Given the description of an element on the screen output the (x, y) to click on. 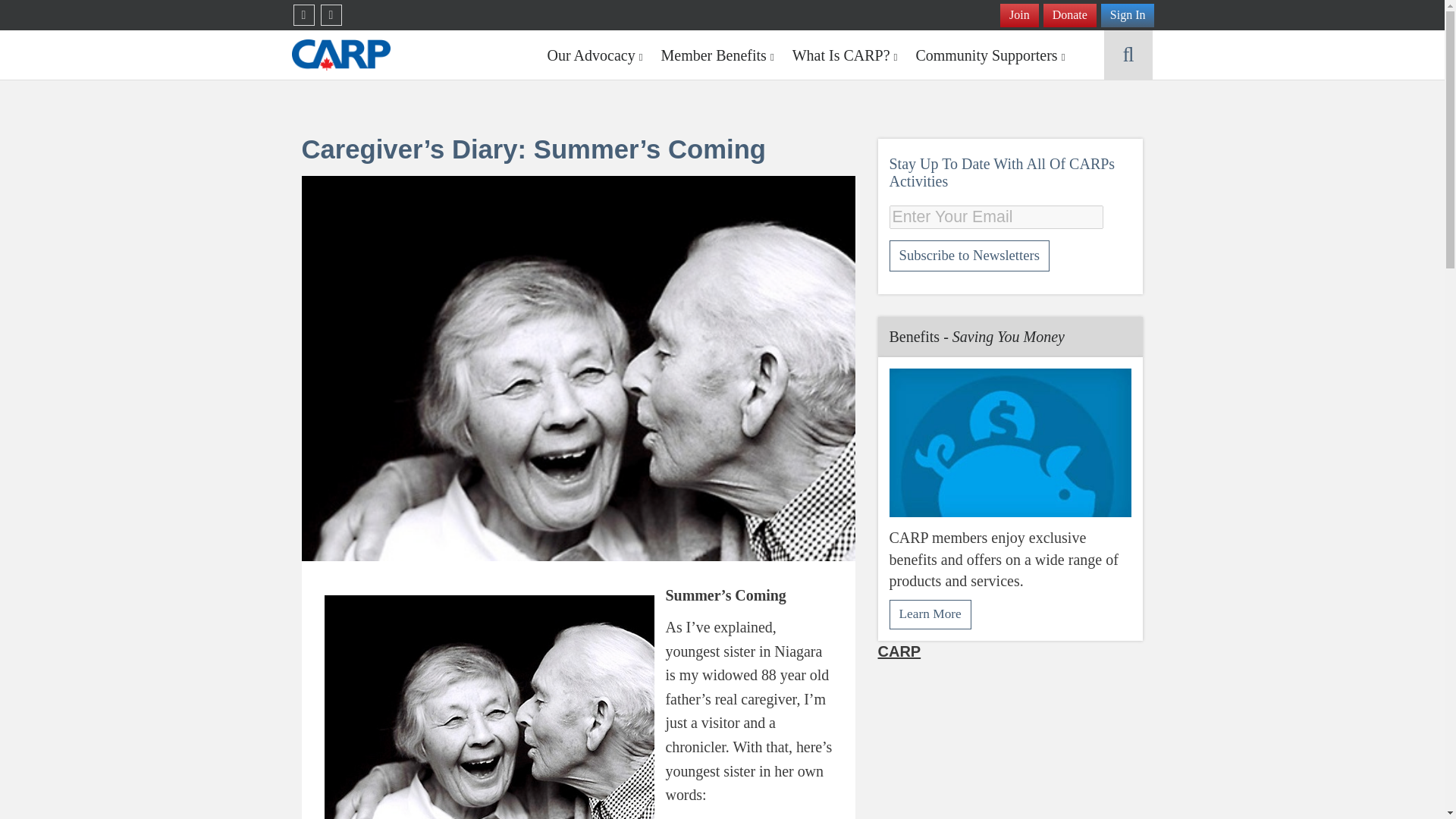
Donate (1069, 15)
Join (1019, 15)
Older Couple (488, 707)
Sign In (1127, 15)
